Given the description of an element on the screen output the (x, y) to click on. 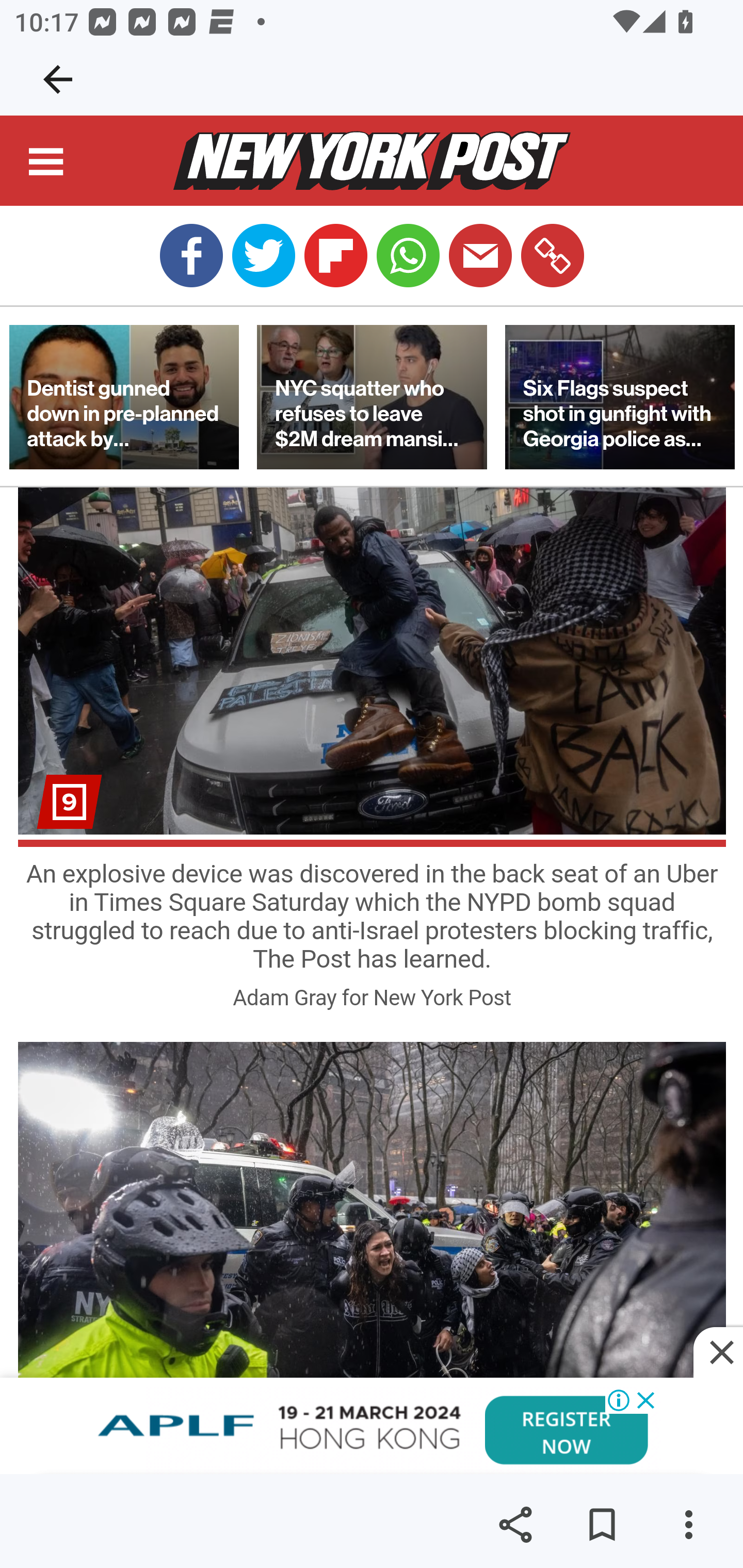
Navigate up (57, 79)
nypost (371, 161)
navigation menu (46, 165)
Click to share on Facebook (191, 256)
Click to share on Twitter (263, 256)
Click to share on Flipboard (335, 256)
Click to share on Whatsapp (407, 256)
Click to email a link to a friend (480, 256)
Click to copy URL (552, 256)
Close this ad (718, 1352)
Share (514, 1524)
Save for later (601, 1524)
More options (688, 1524)
